Given the description of an element on the screen output the (x, y) to click on. 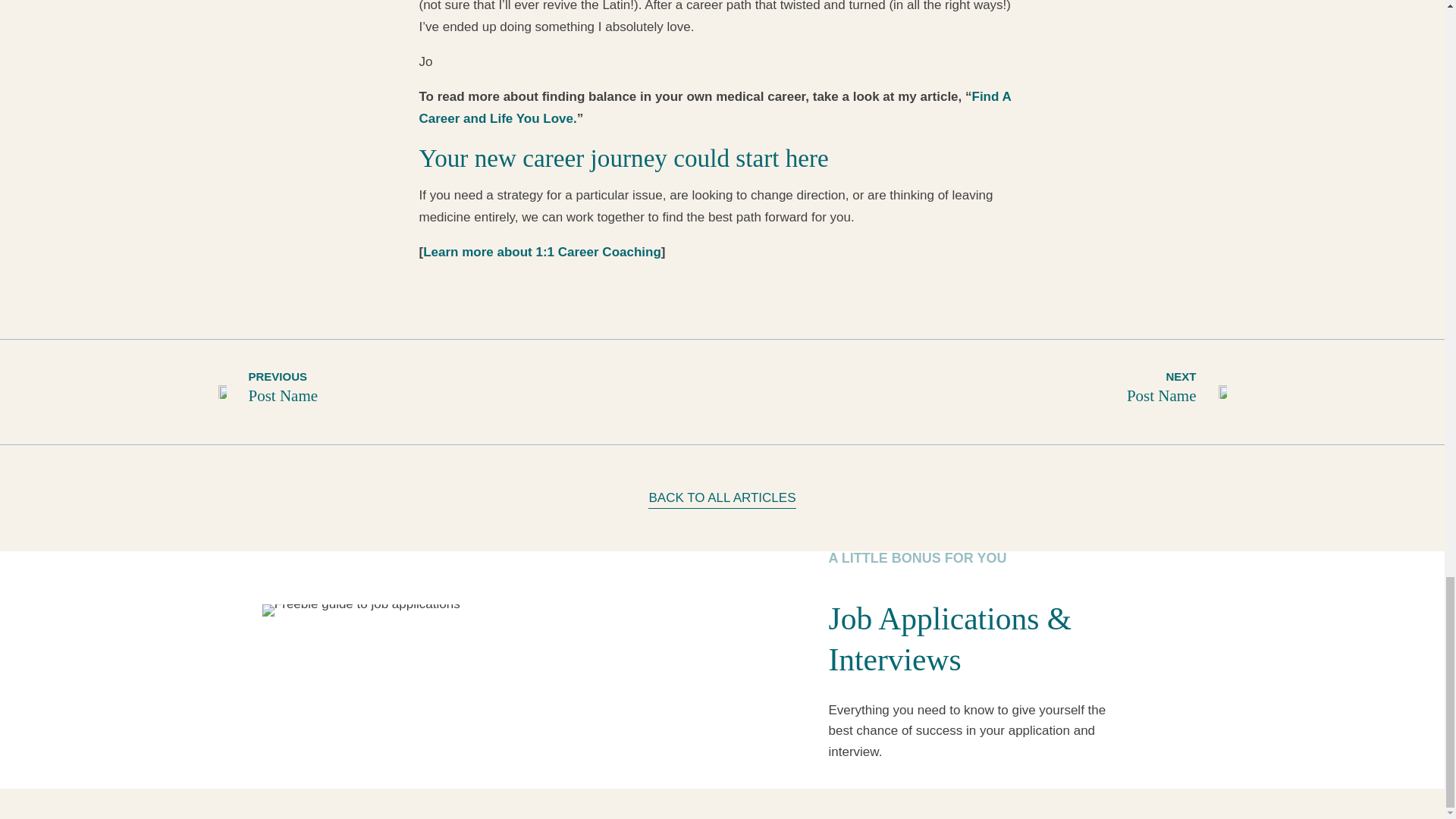
Post Name (1161, 395)
Find A Career and Life You Love. (714, 107)
Freebie guide to job applications (361, 610)
NEXT (1180, 376)
Post Name (283, 395)
PREVIOUS (277, 376)
Learn more about 1:1 Career Coaching (542, 251)
